Given the description of an element on the screen output the (x, y) to click on. 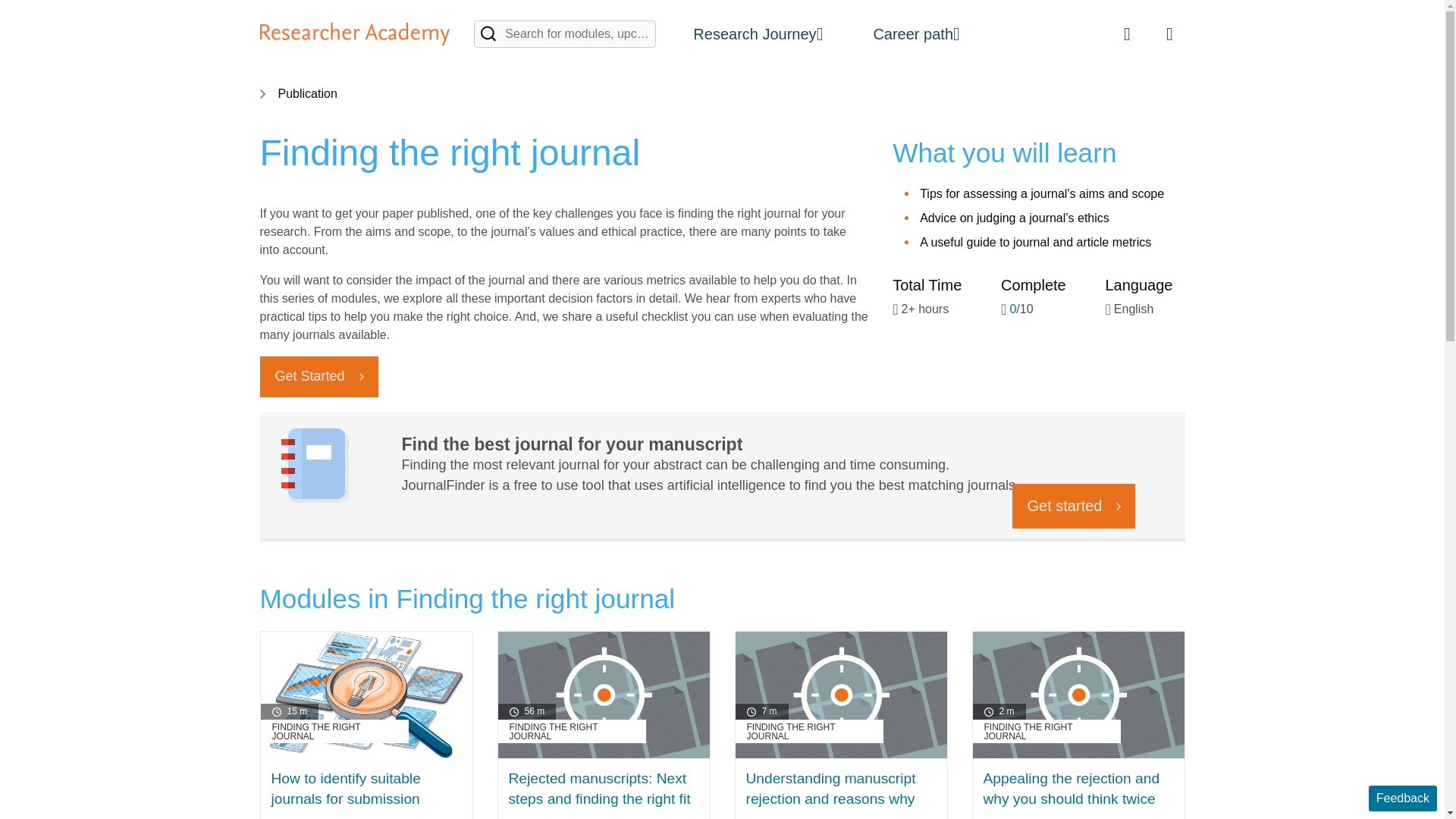
Log in (1169, 33)
Login to Researcher Academy (1169, 33)
Career path (915, 33)
Home (354, 33)
Go to Career path (915, 33)
Go to the Research Journey page (757, 33)
View the Chinese language content (1126, 33)
Research Journey (757, 33)
